Given the description of an element on the screen output the (x, y) to click on. 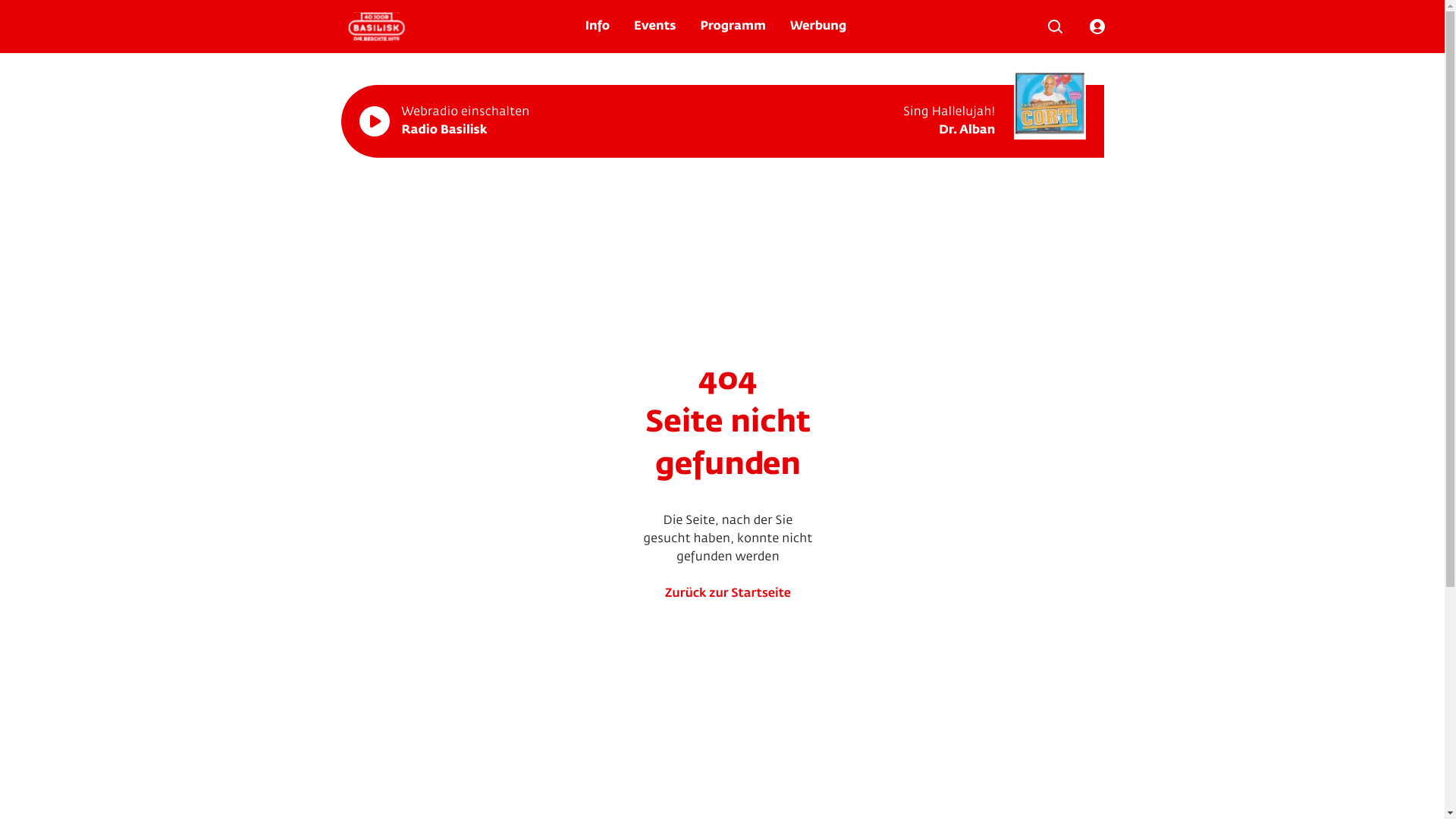
Open User Profile Element type: hover (1097, 26)
Go to search page Element type: hover (1054, 26)
Events Element type: text (654, 26)
Abspielen Element type: hover (374, 121)
null - null Element type: hover (1049, 103)
Info Element type: text (597, 26)
Werbung Element type: text (818, 26)
Programm Element type: text (732, 26)
